Given the description of an element on the screen output the (x, y) to click on. 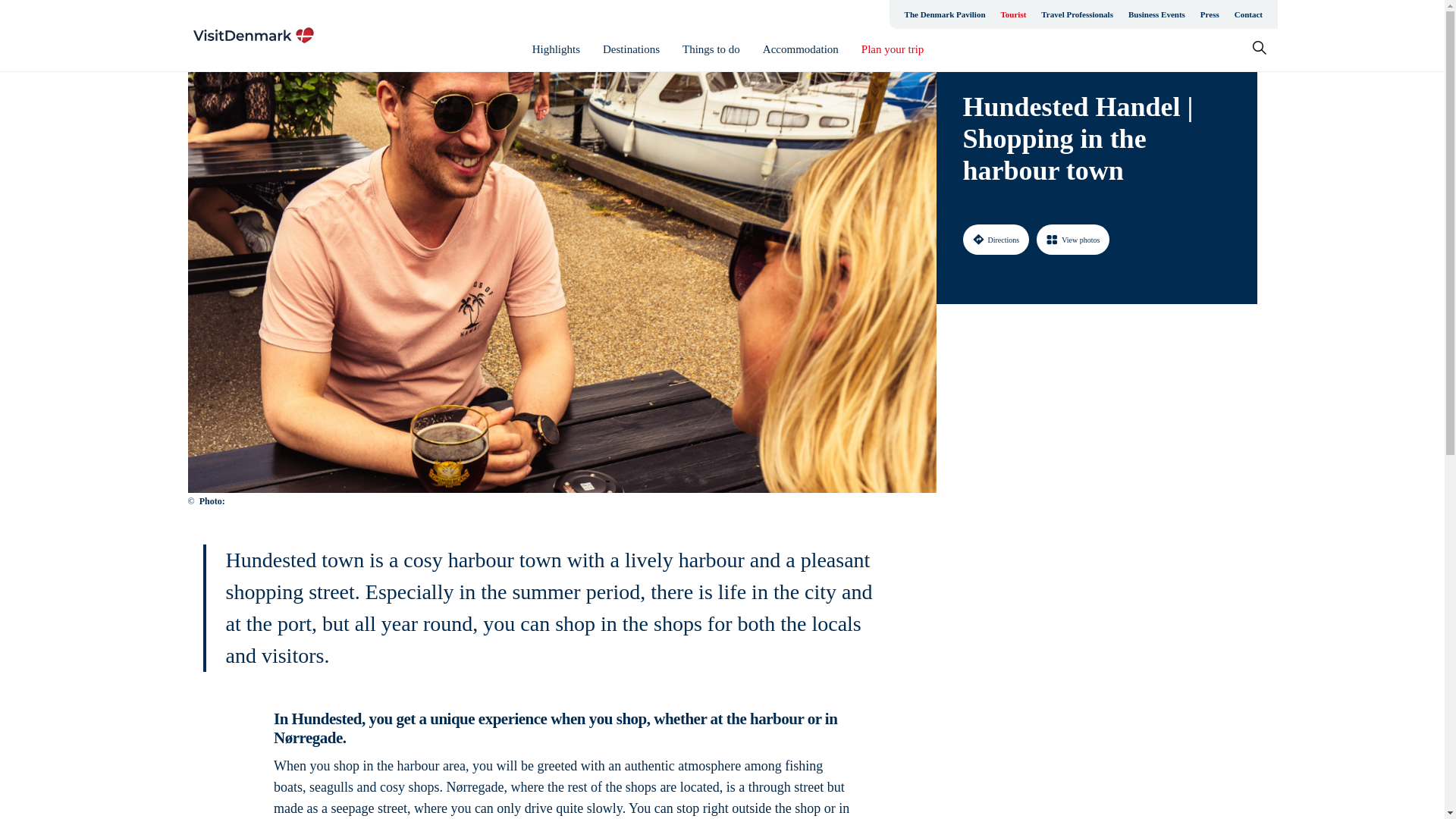
Press (1209, 14)
Travel Professionals (1077, 14)
Things to do (710, 49)
Directions (995, 239)
Highlights (555, 49)
Plan your trip (892, 49)
Destinations (630, 49)
The Denmark Pavilion (944, 14)
Accommodation (800, 49)
Contact (1248, 14)
Go to homepage (253, 35)
View photos (1072, 239)
Business Events (1156, 14)
Tourist (1012, 14)
